Given the description of an element on the screen output the (x, y) to click on. 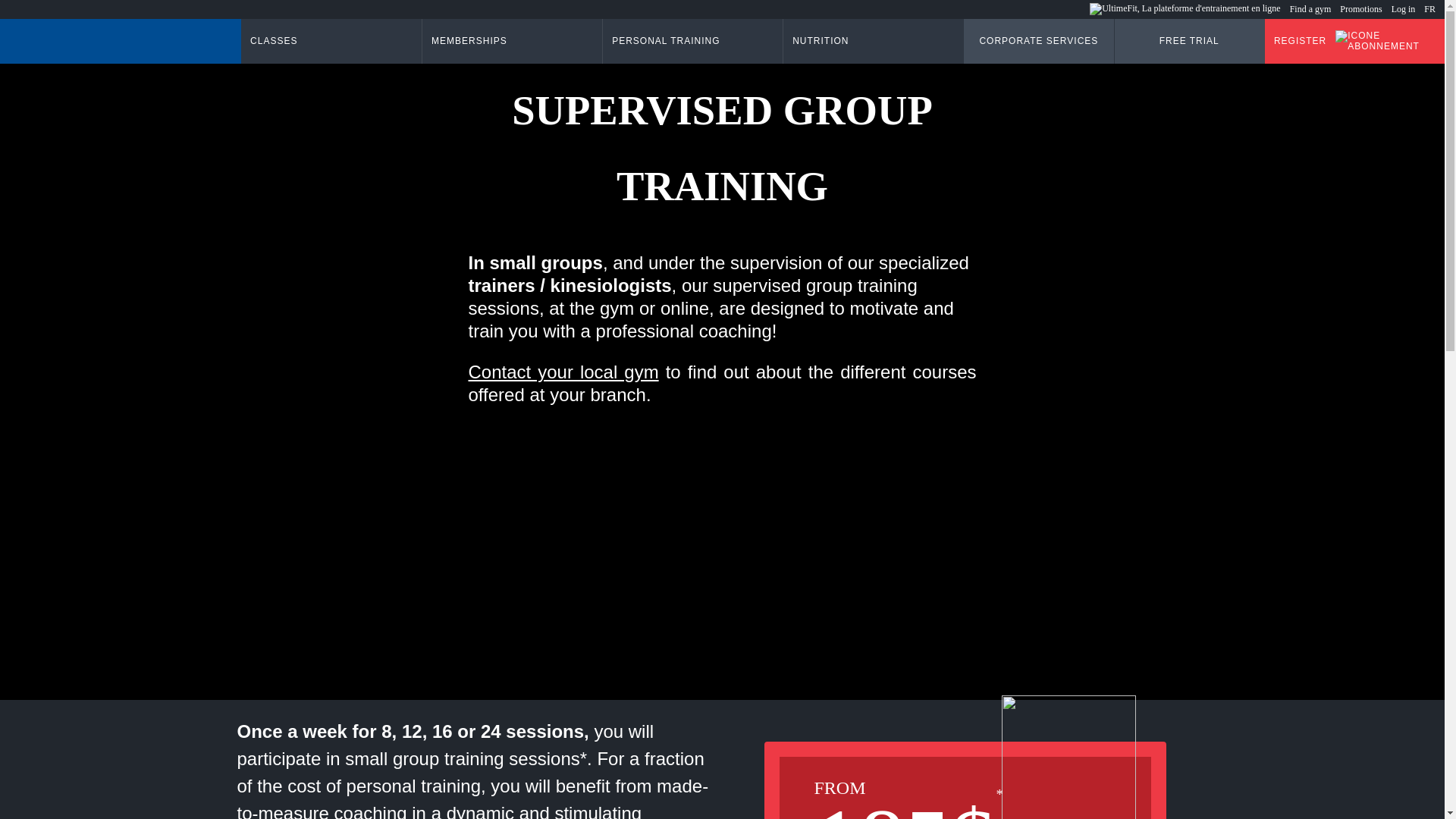
FREE TRIAL (1188, 40)
Log in (1408, 9)
CORPORATE SERVICES (1037, 40)
Contact your local gym (563, 371)
Find a gym (1315, 9)
Promotions (1364, 9)
